Given the description of an element on the screen output the (x, y) to click on. 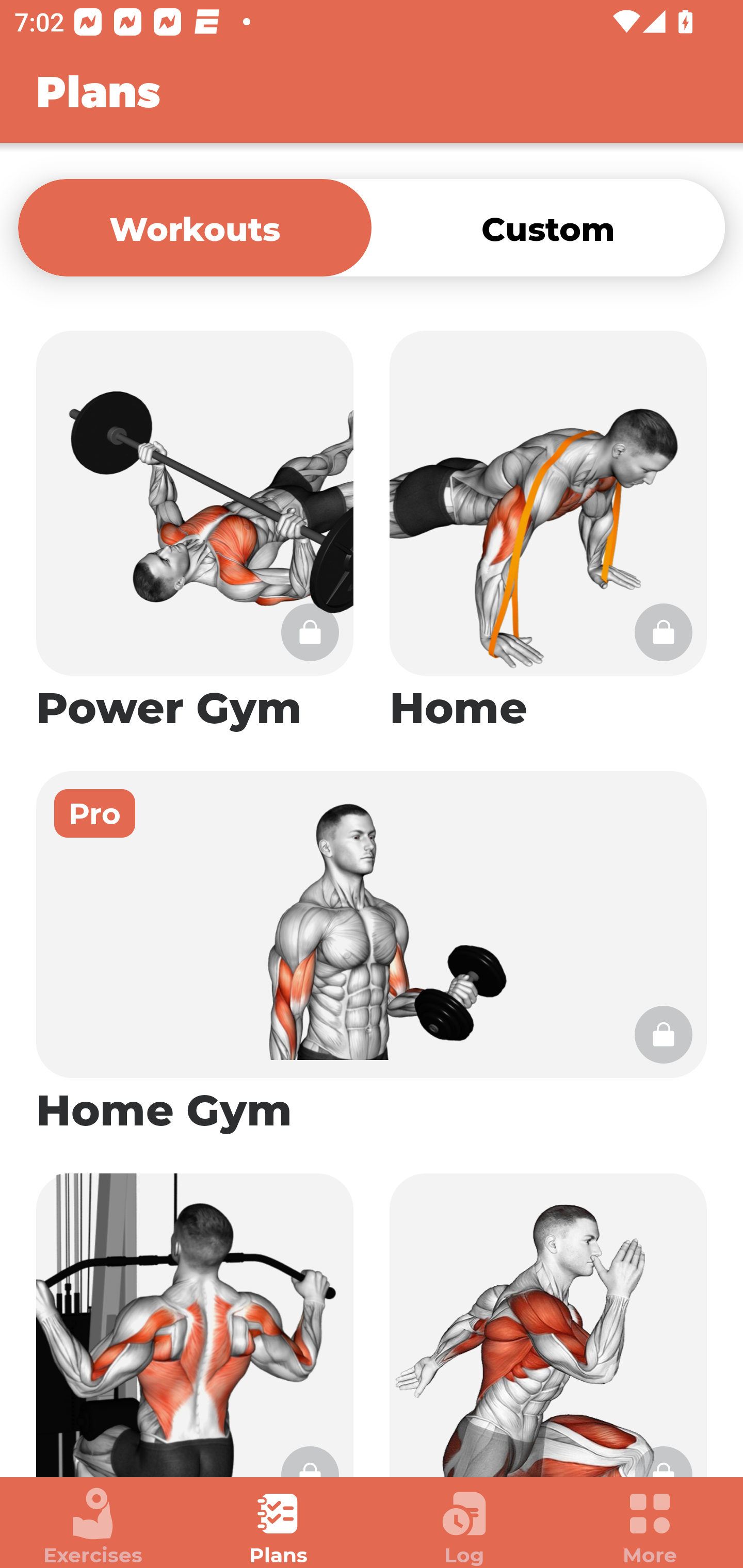
Workouts (194, 226)
Custom (548, 226)
Power Gym (194, 532)
Home (548, 532)
Pro Home Gym (371, 953)
Exercises (92, 1527)
Plans (278, 1527)
Log (464, 1527)
More (650, 1527)
